Given the description of an element on the screen output the (x, y) to click on. 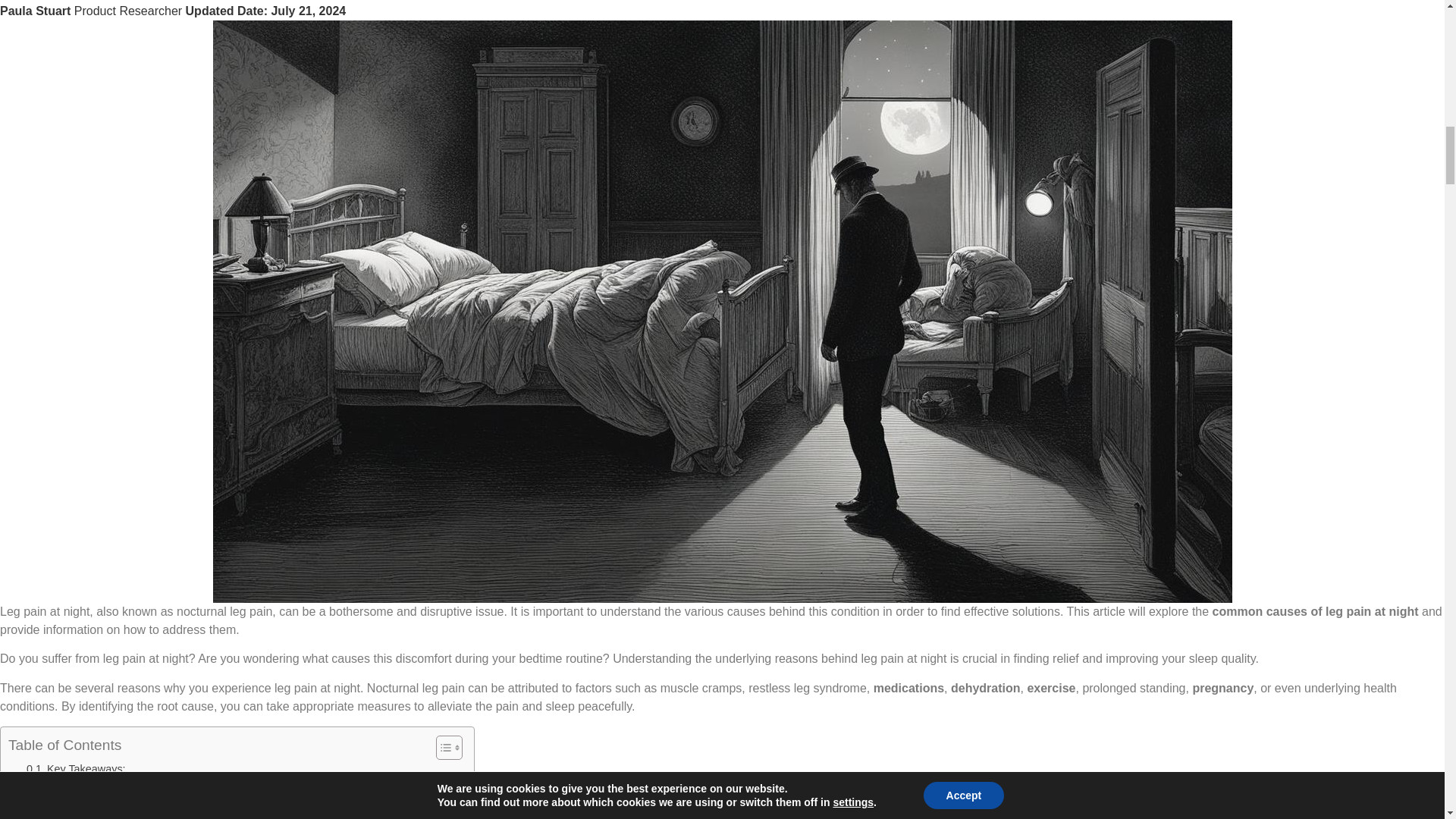
Table: Nocturnal Leg Cramp Relief with Medicramp (152, 805)
Key Takeaways: (75, 769)
Table: Nocturnal Leg Cramp Relief with Medicramp (152, 805)
What Are Nocturnal Leg Cramps? (100, 787)
Key Takeaways: (75, 769)
What Are Nocturnal Leg Cramps? (100, 787)
